Given the description of an element on the screen output the (x, y) to click on. 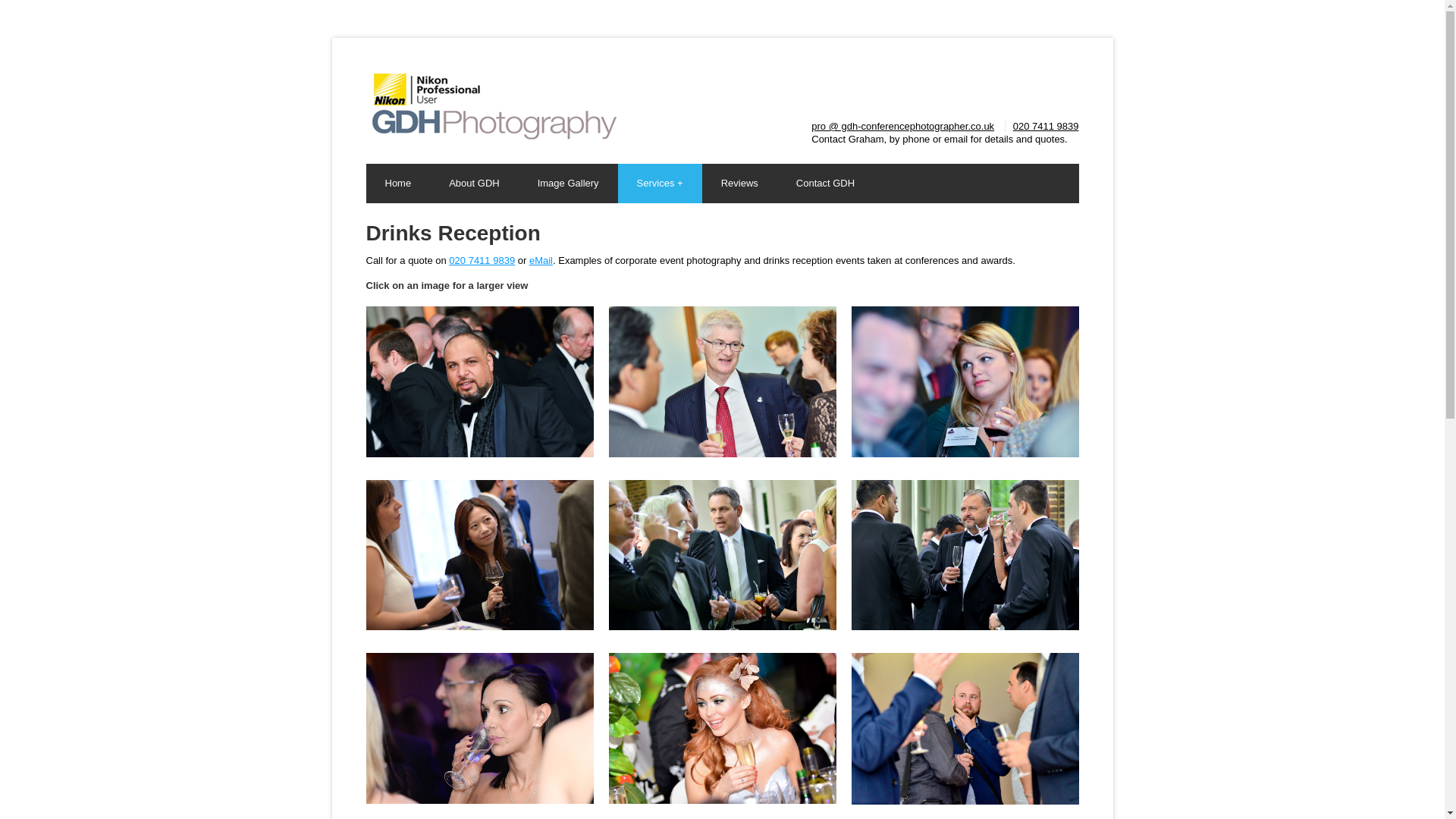
Google Plus (1017, 78)
Cocktail Reception (964, 728)
Image Gallery (567, 183)
LinkedIn (1043, 78)
Facebook (967, 78)
Networking Reception (964, 554)
Networking Reception (721, 554)
Drinks Reception (721, 381)
Cocktail Party (478, 554)
Twitter (993, 78)
Contact GDH (825, 183)
eMail (541, 260)
Cocktail Party (964, 381)
020 7411 9839 (1045, 125)
Reviews (739, 183)
